Given the description of an element on the screen output the (x, y) to click on. 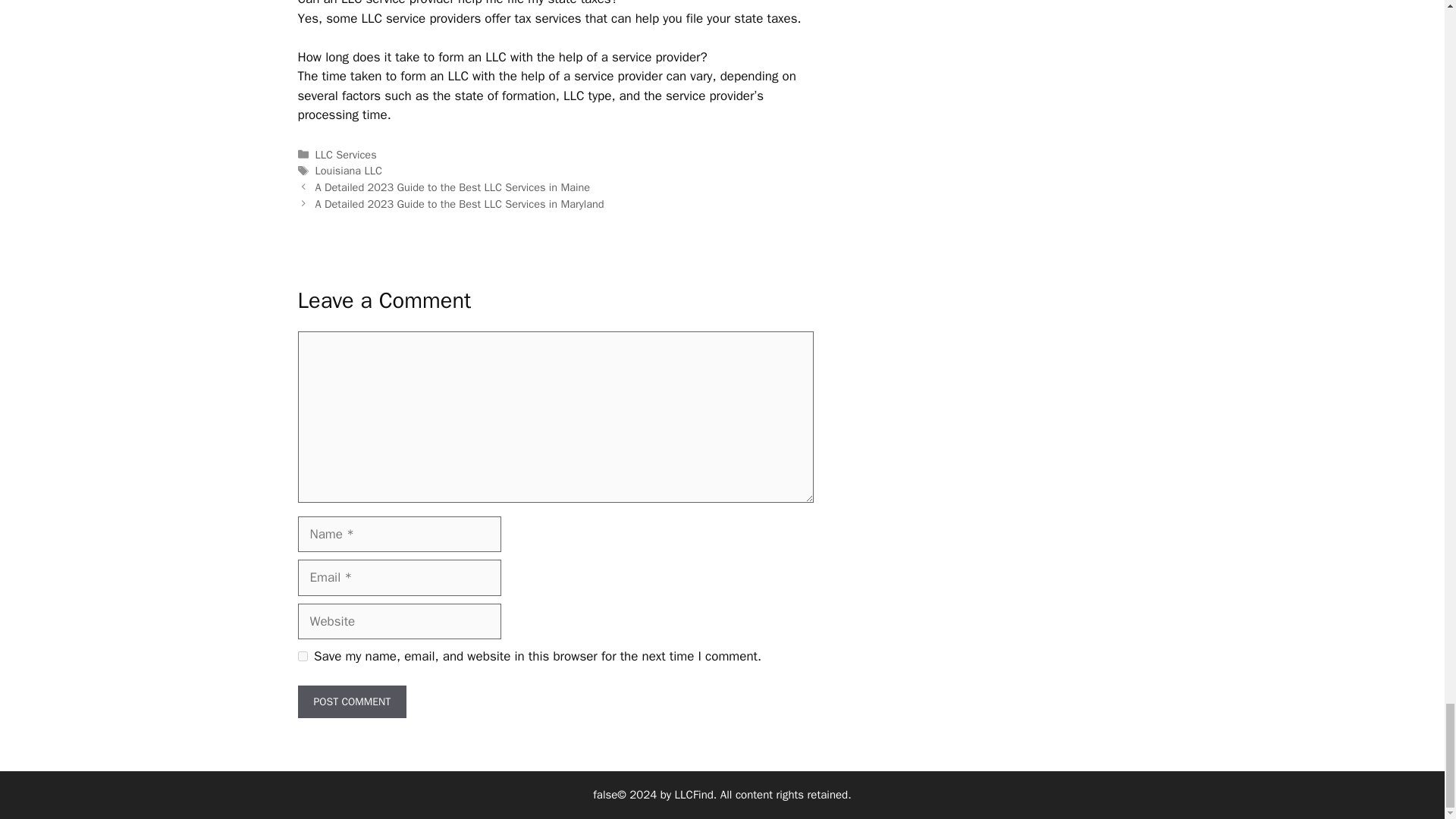
yes (302, 655)
Post Comment (351, 701)
